Given the description of an element on the screen output the (x, y) to click on. 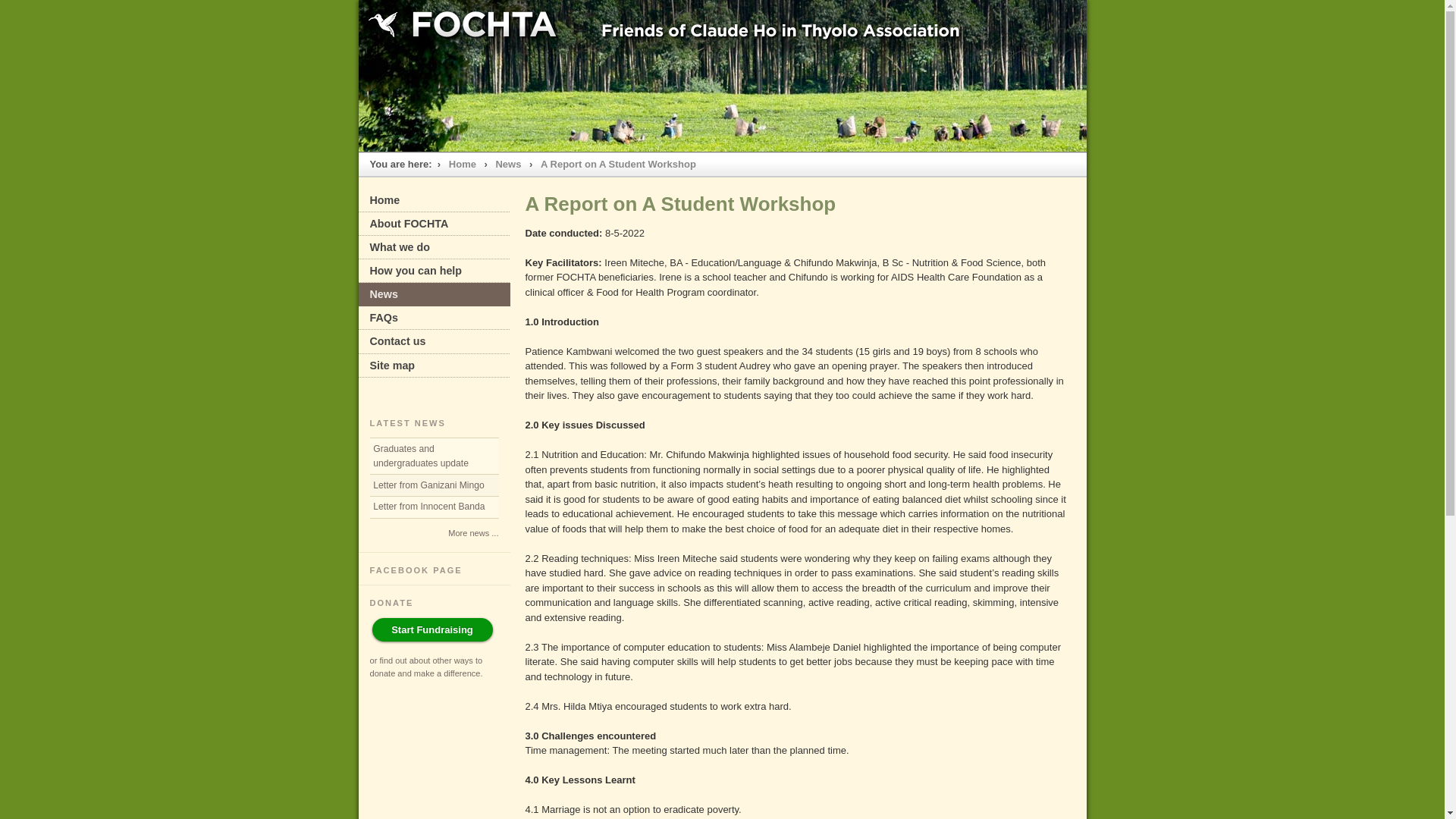
A Report on A Student Workshop Element type: text (618, 163)
Start Fundraising Element type: text (431, 630)
About FOCHTA Element type: text (433, 223)
News Element type: text (433, 294)
News Element type: text (507, 163)
FAQs Element type: text (433, 317)
Graduates and undergraduates update Element type: text (434, 455)
Contact us Element type: text (433, 341)
Home Element type: text (433, 199)
How you can help Element type: text (433, 270)
What we do Element type: text (433, 247)
Site map Element type: text (433, 365)
Back to FOCHTA homepage Element type: hover (721, 28)
or find out about other ways to donate and make a difference Element type: text (426, 666)
Letter from Innocent Banda Element type: text (434, 507)
Home Element type: text (462, 163)
Letter from Ganizani Mingo Element type: text (434, 485)
More news ... Element type: text (473, 532)
